Given the description of an element on the screen output the (x, y) to click on. 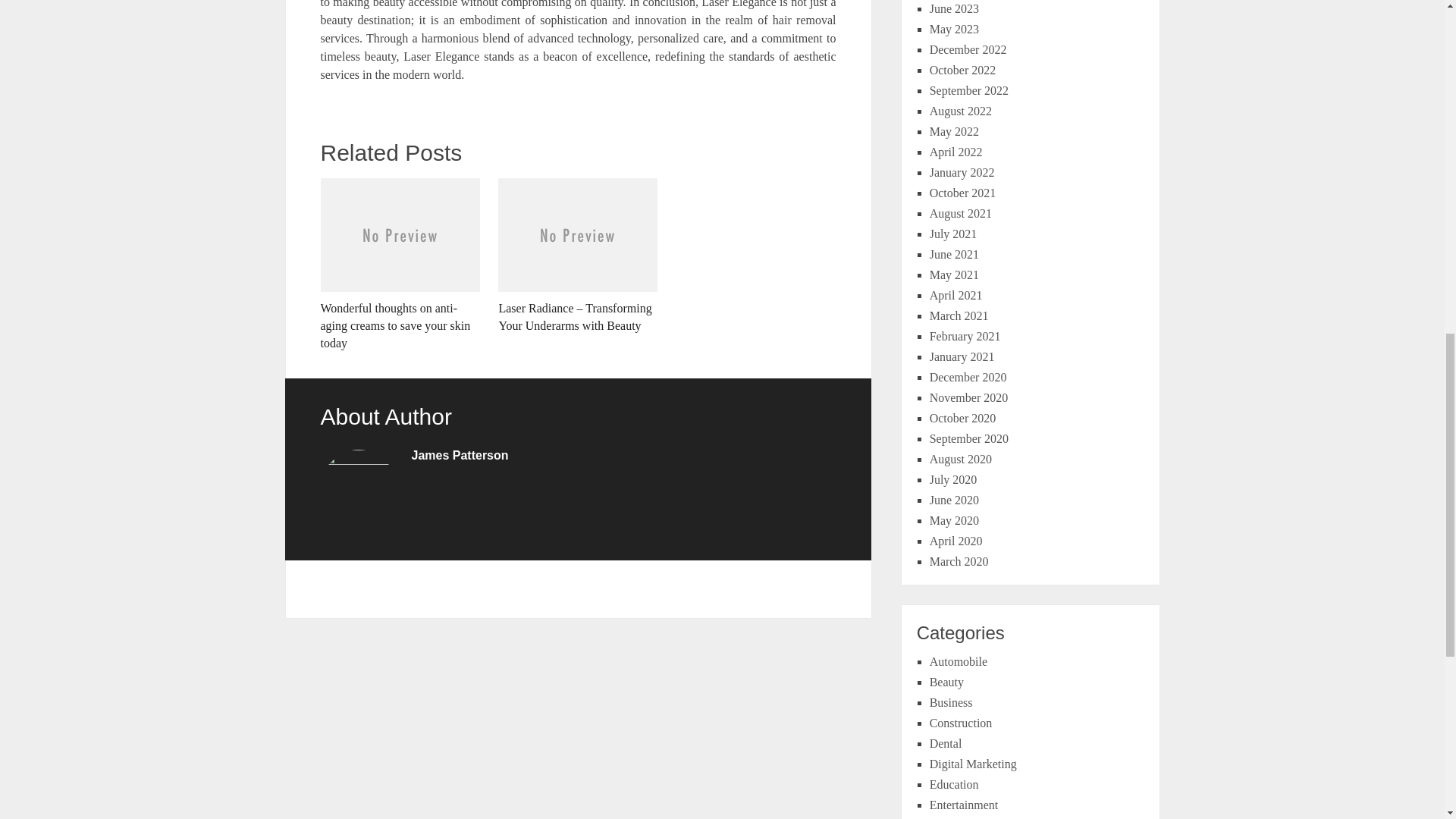
October 2022 (962, 69)
December 2022 (968, 49)
August 2022 (960, 110)
May 2023 (954, 29)
September 2022 (969, 90)
May 2022 (954, 131)
June 2023 (954, 8)
April 2022 (956, 151)
